Given the description of an element on the screen output the (x, y) to click on. 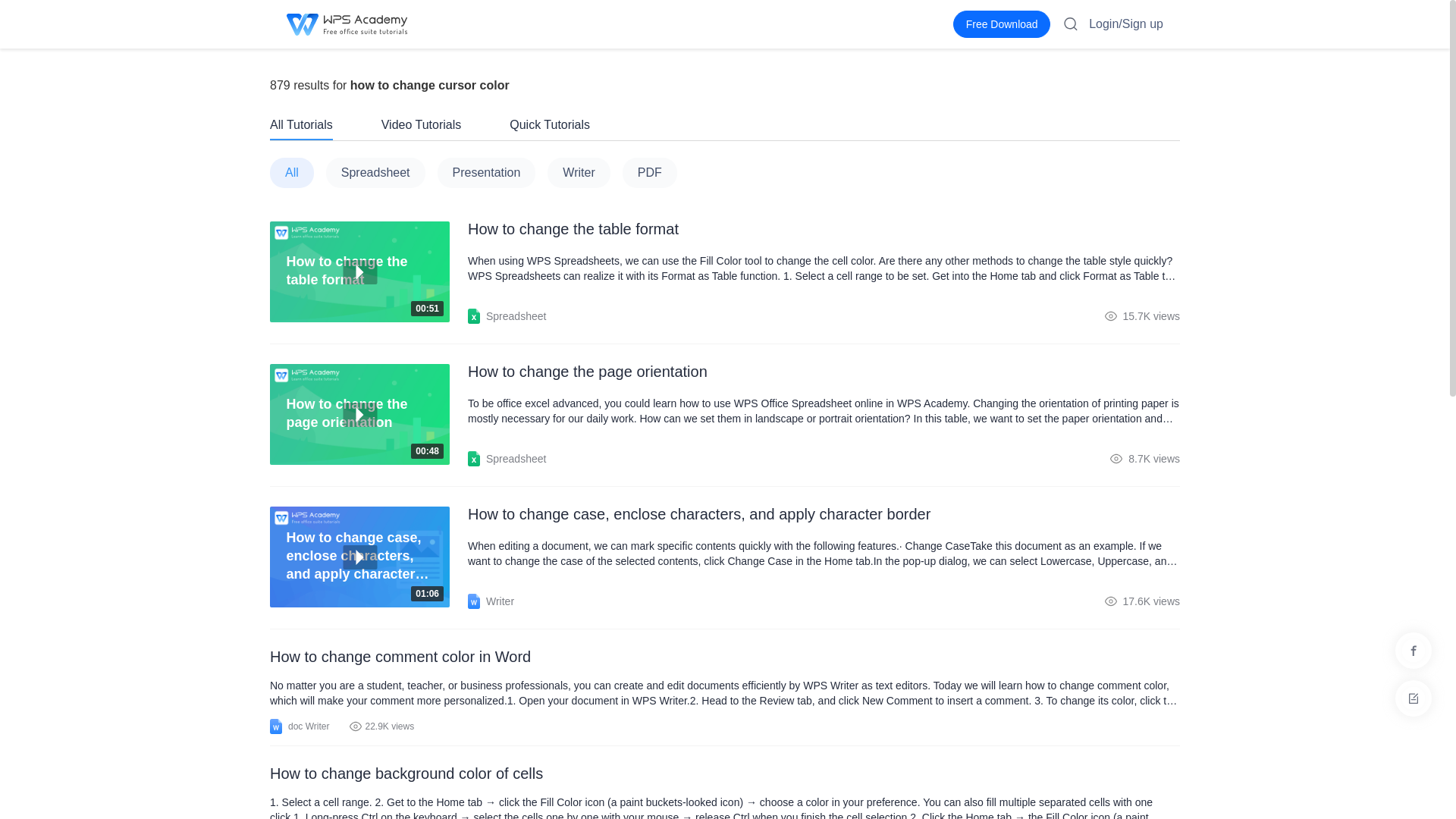
How to change the page orientation (823, 410)
How to change the page orientation (359, 414)
How to change comment color in Word (724, 656)
How to change the page orientation (823, 371)
How to change the table format (359, 271)
How to change background color of cells (724, 773)
How to change the table format (368, 272)
How to change the page orientation (368, 414)
How to change the table format (368, 414)
How to change comment color in Word (823, 228)
